Given the description of an element on the screen output the (x, y) to click on. 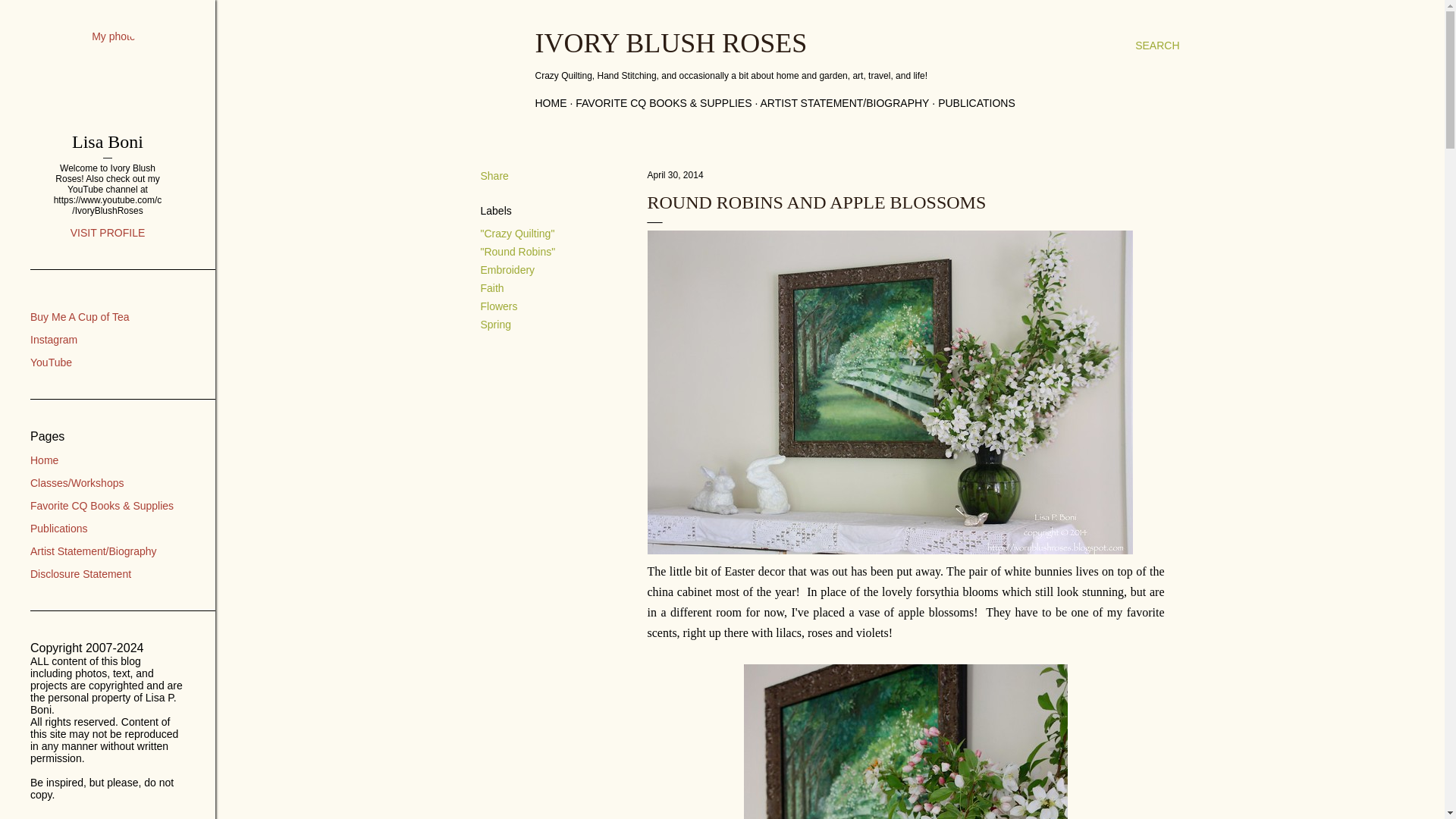
2014.04.28AprilBlossoms02 by ivoryblushroses, on Flickr (889, 549)
April 30, 2014 (675, 174)
Faith (491, 287)
Embroidery (507, 269)
Share (494, 175)
"Crazy Quilting" (517, 233)
SEARCH (1157, 45)
IVORY BLUSH ROSES (671, 42)
Spring (495, 324)
PUBLICATIONS (975, 102)
